Given the description of an element on the screen output the (x, y) to click on. 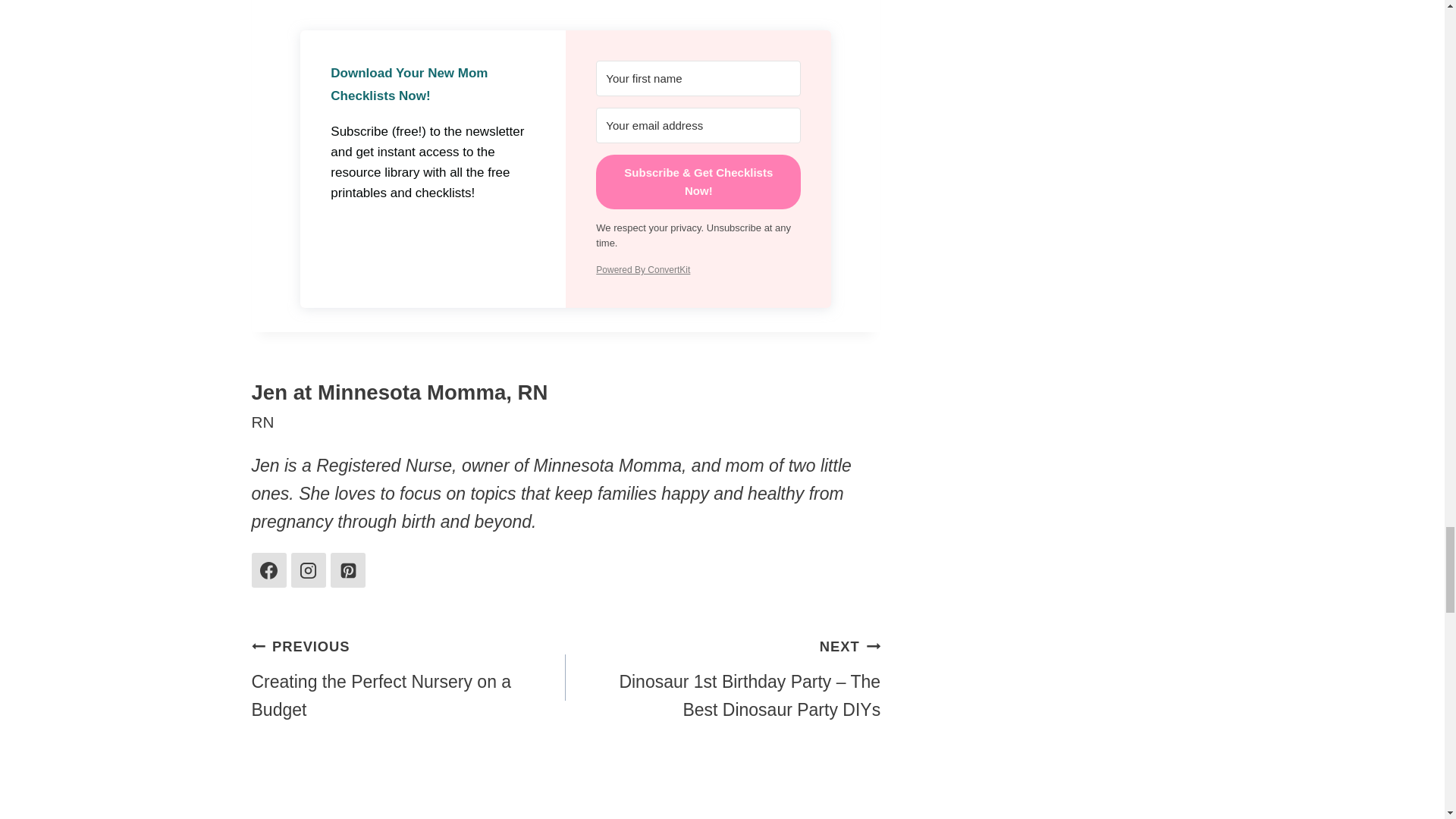
Follow Jen at Minnesota Momma, RN on Facebook (268, 570)
Follow Jen at Minnesota Momma, RN on Pinterest (347, 570)
Follow Jen at Minnesota Momma, RN on Instagram (308, 570)
